Given the description of an element on the screen output the (x, y) to click on. 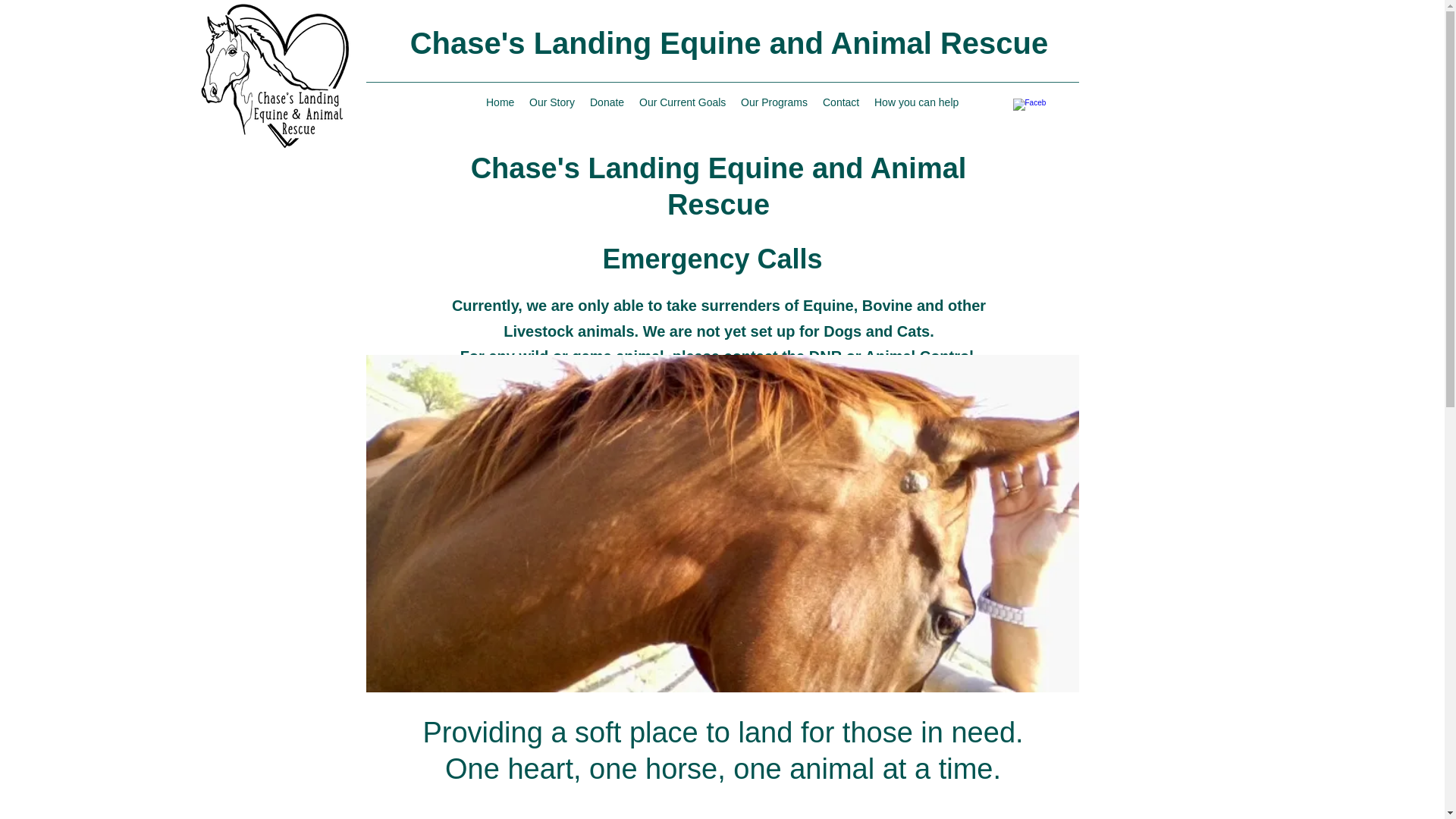
Our Programs (774, 101)
Our Story (551, 101)
Donate (606, 101)
Our Current Goals (682, 101)
Home (500, 101)
How you can help (916, 101)
Contact (840, 101)
